Given the description of an element on the screen output the (x, y) to click on. 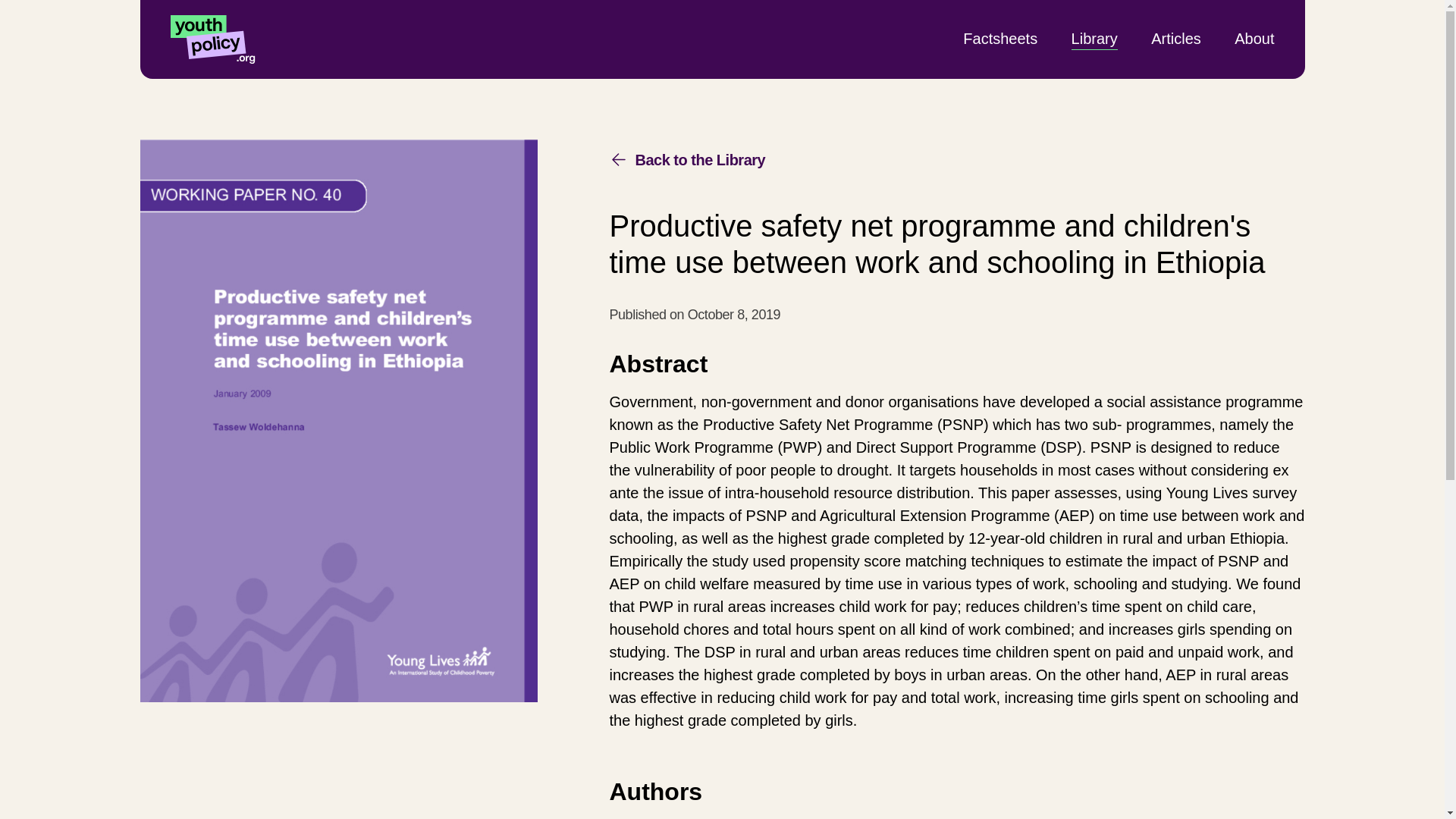
Library (1094, 38)
About (1254, 38)
Back to the Library (687, 159)
Factsheets (999, 38)
Articles (1176, 38)
